Given the description of an element on the screen output the (x, y) to click on. 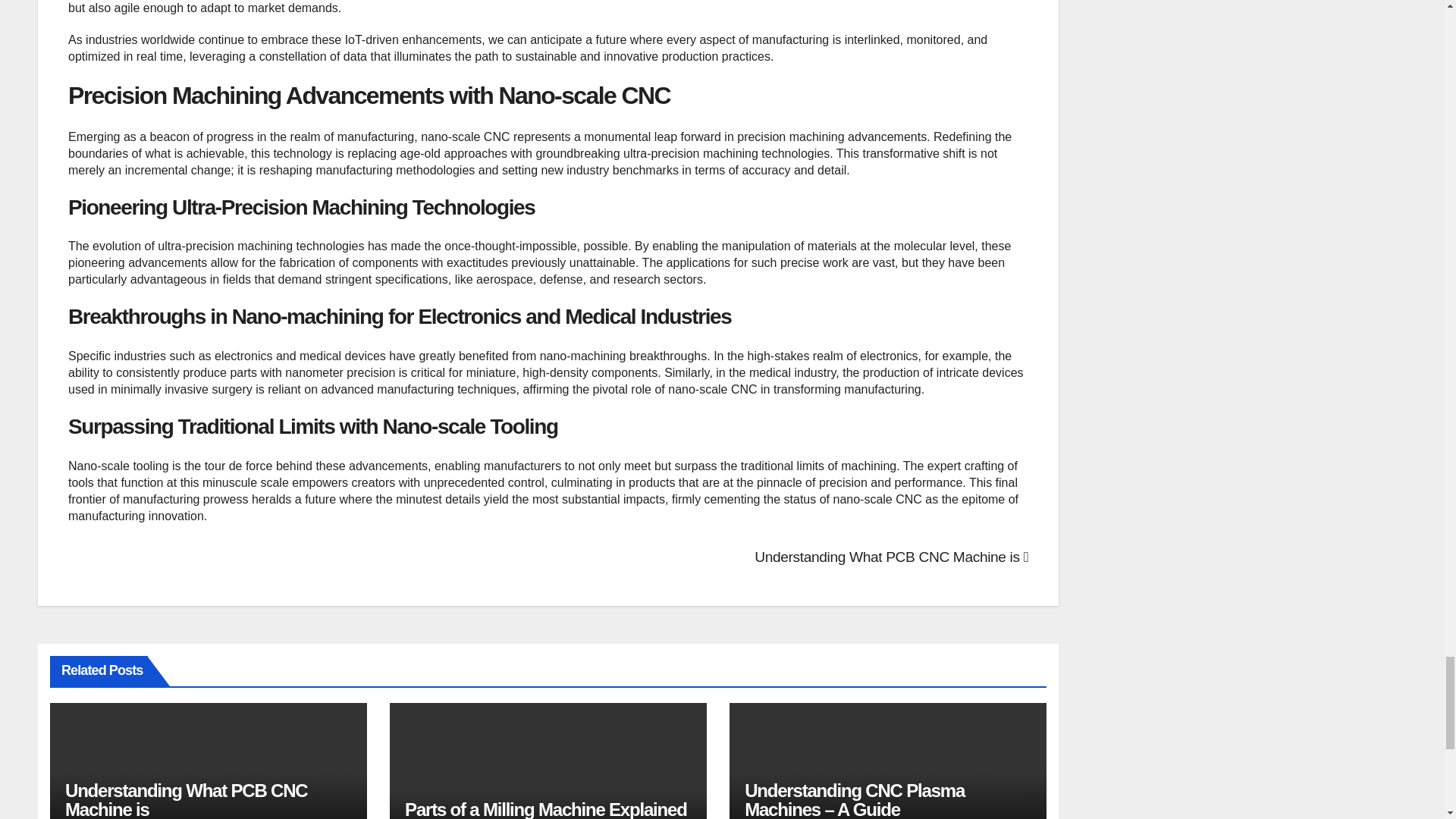
Understanding What PCB CNC Machine is (186, 799)
Permalink to: Parts of a Milling Machine Explained (545, 809)
Understanding What PCB CNC Machine is (890, 556)
Permalink to: Understanding What PCB CNC Machine is (186, 799)
Parts of a Milling Machine Explained (545, 809)
